Given the description of an element on the screen output the (x, y) to click on. 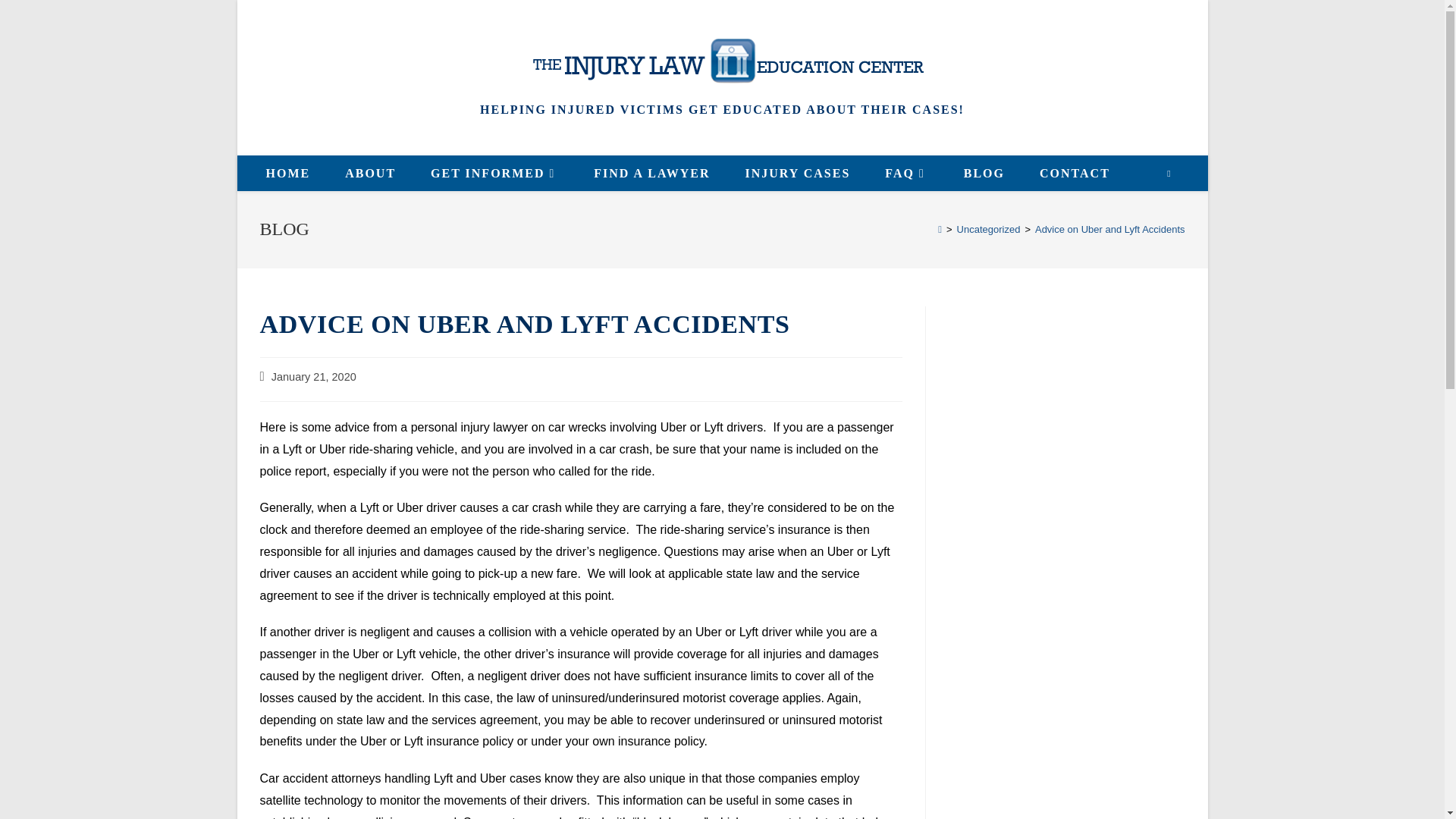
BLOG (984, 172)
INJURY CASES (796, 172)
FAQ (905, 172)
GET INFORMED (494, 172)
FIND A LAWYER (651, 172)
HOME (288, 172)
ABOUT (370, 172)
CONTACT (1074, 172)
